Given the description of an element on the screen output the (x, y) to click on. 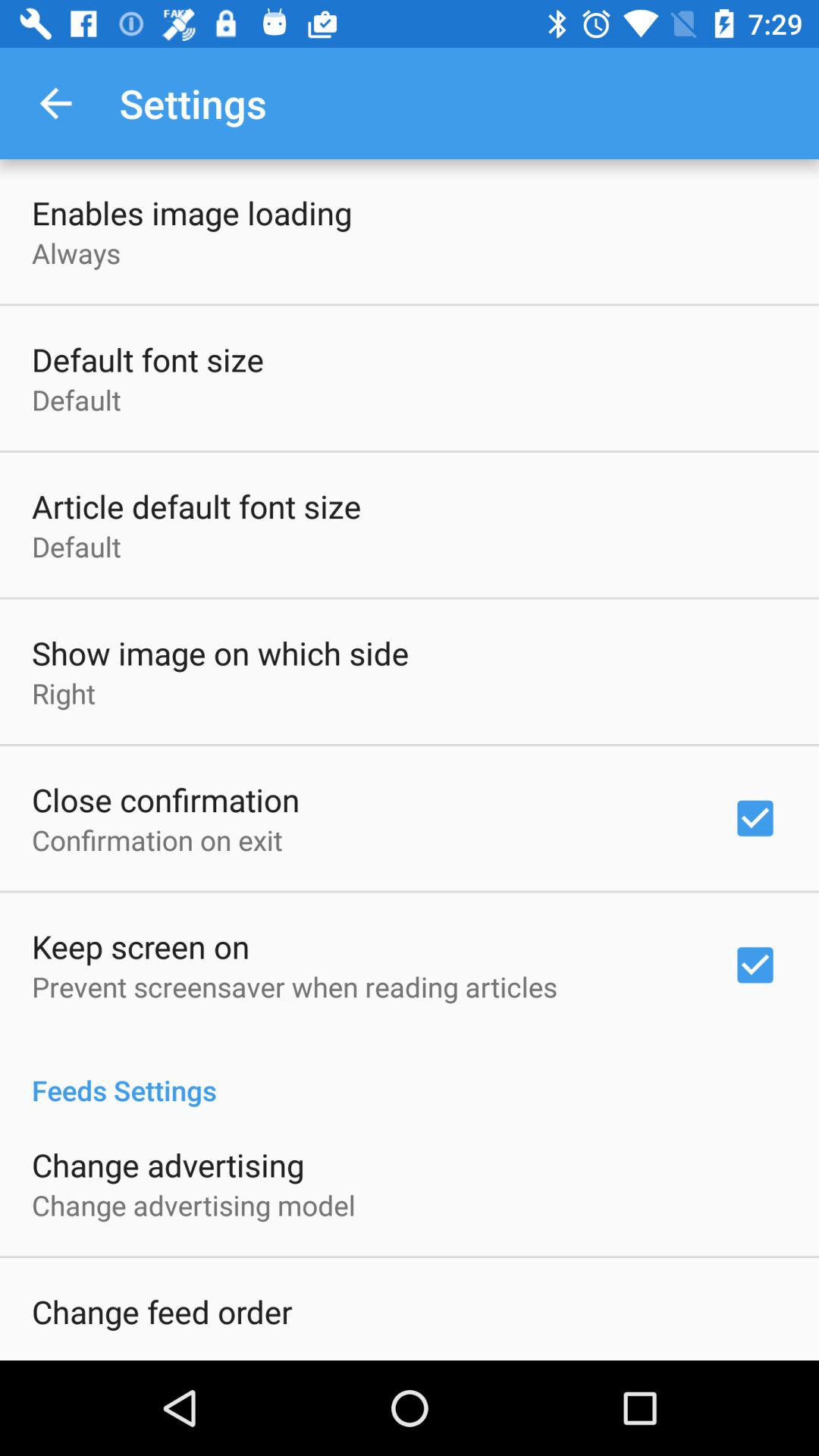
swipe until the confirmation on exit item (156, 839)
